Given the description of an element on the screen output the (x, y) to click on. 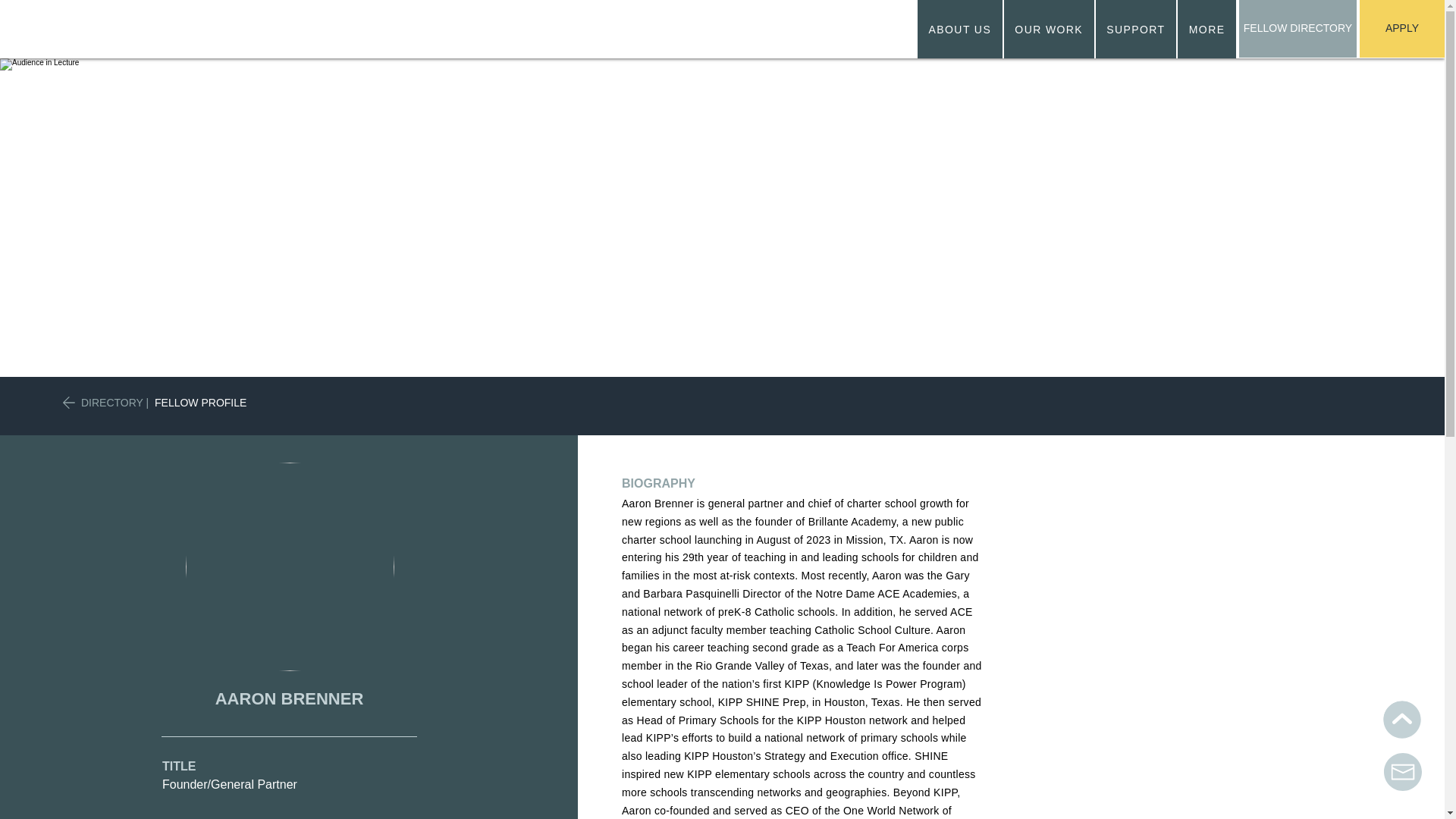
FELLOW DIRECTORY (1297, 28)
DIRECTORY (111, 402)
ABOUT US (960, 29)
